Given the description of an element on the screen output the (x, y) to click on. 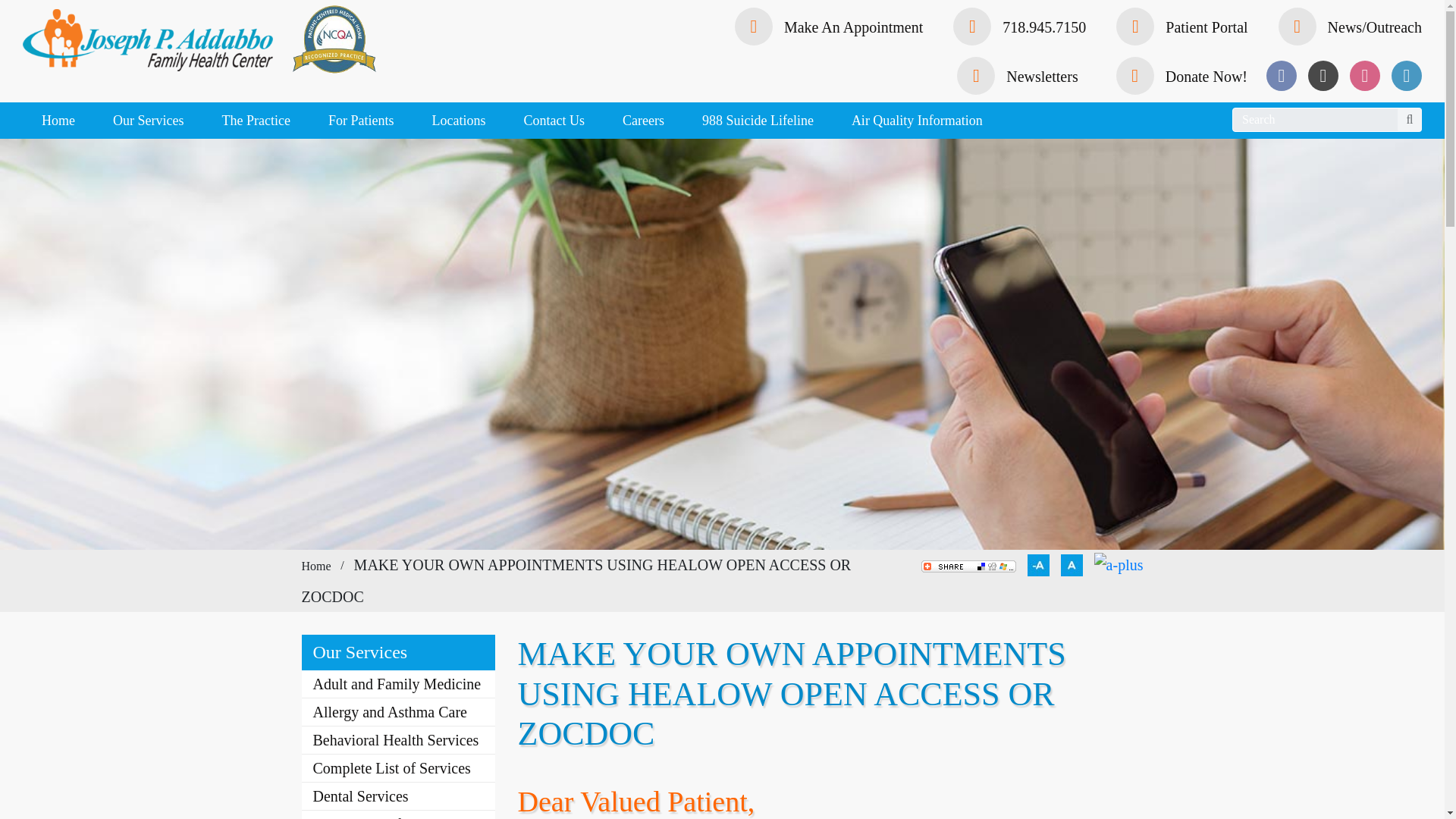
Our Services (148, 120)
718.945.7150 (1019, 27)
Home (58, 120)
Make An Appointment (829, 27)
Patient Portal (1181, 27)
Newsletters (1016, 76)
Donate Now! (1181, 76)
